Given the description of an element on the screen output the (x, y) to click on. 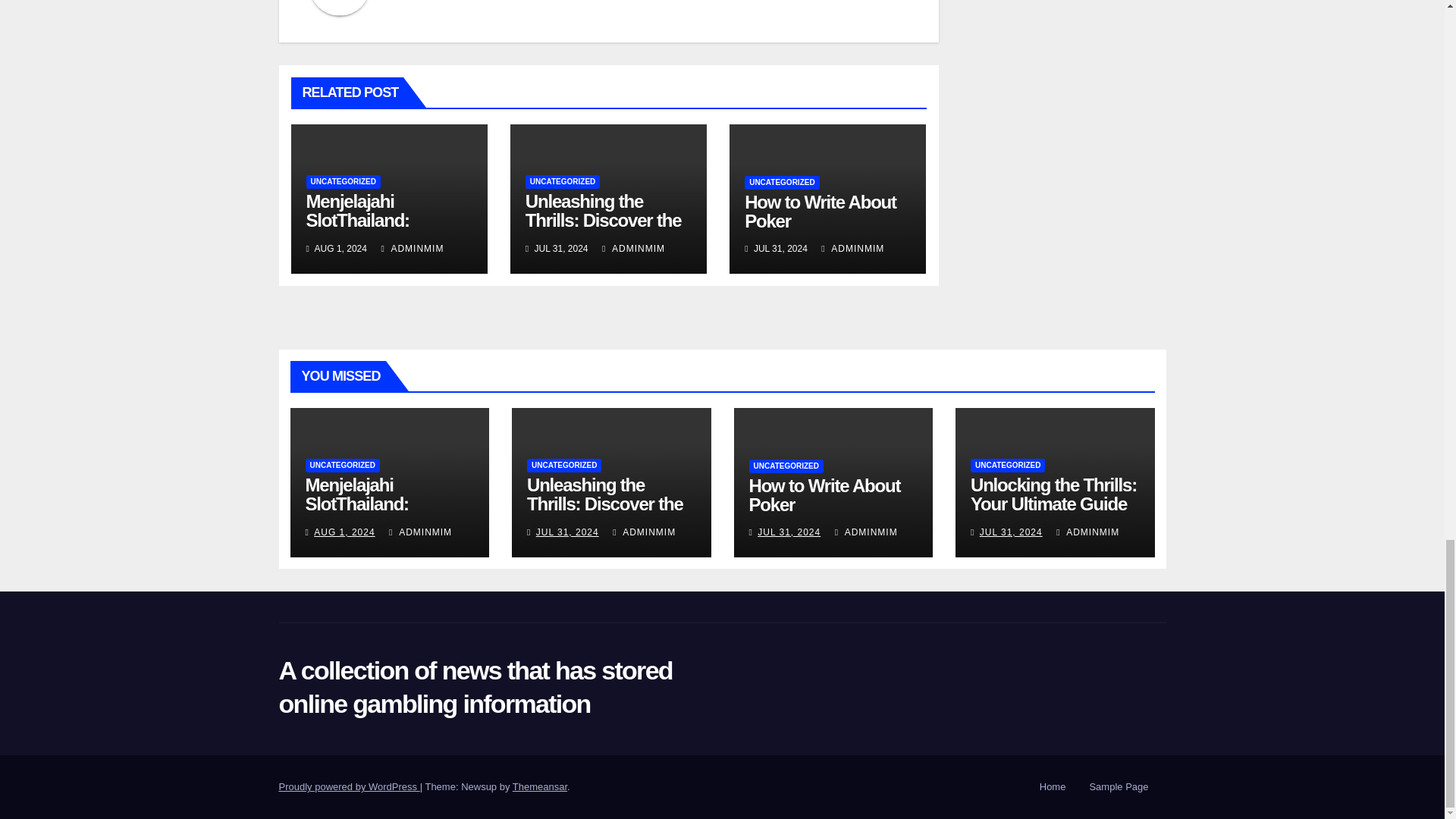
ADMINMIM (412, 248)
How to Write About Poker (820, 210)
Permalink to: How to Write About Poker (820, 210)
Home (1052, 786)
Permalink to: How to Write About Poker (825, 495)
ADMINMIM (633, 248)
UNCATEGORIZED (562, 182)
ADMINMIM (852, 248)
UNCATEGORIZED (342, 182)
UNCATEGORIZED (781, 182)
